Given the description of an element on the screen output the (x, y) to click on. 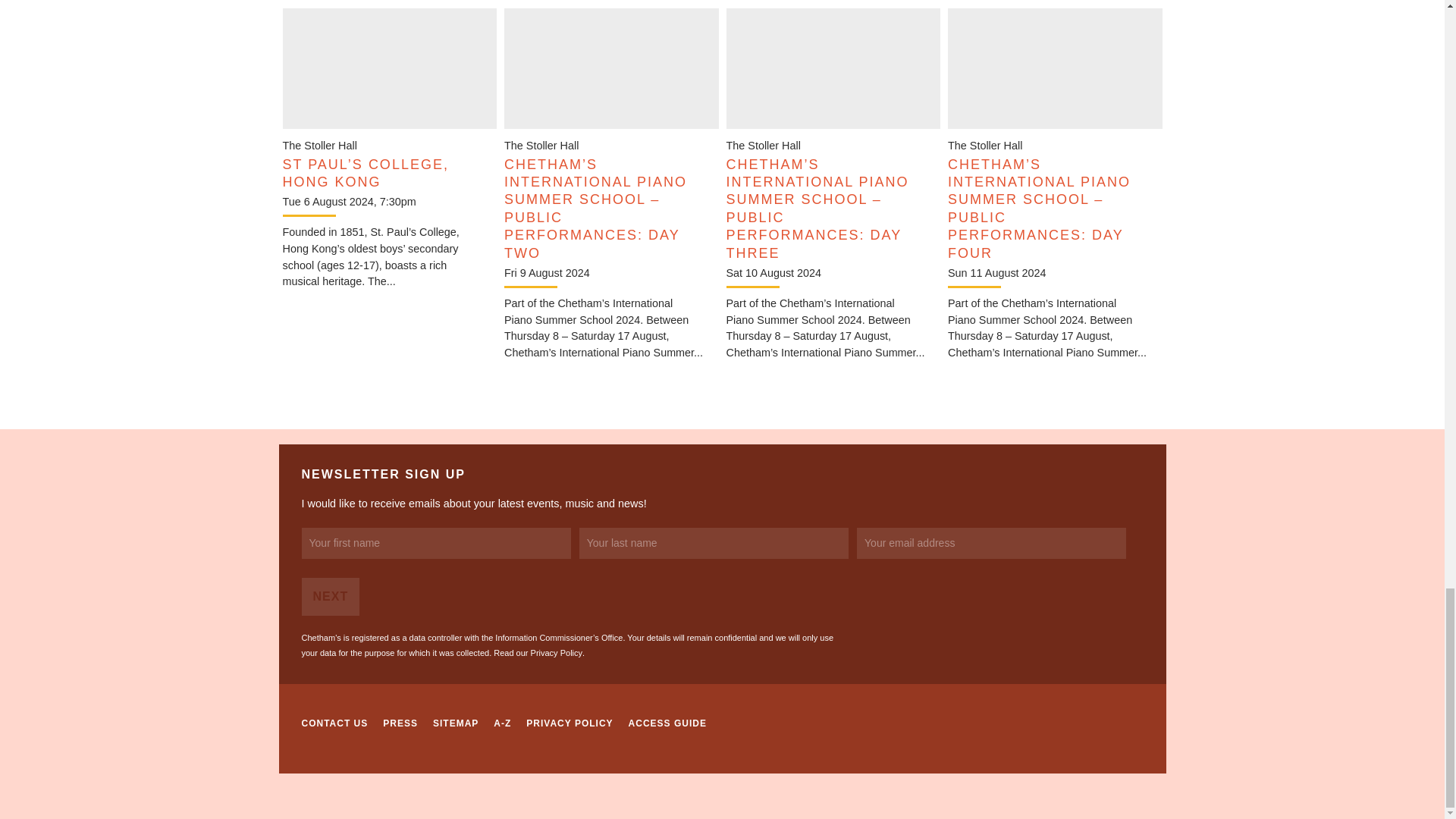
Next (330, 596)
